Given the description of an element on the screen output the (x, y) to click on. 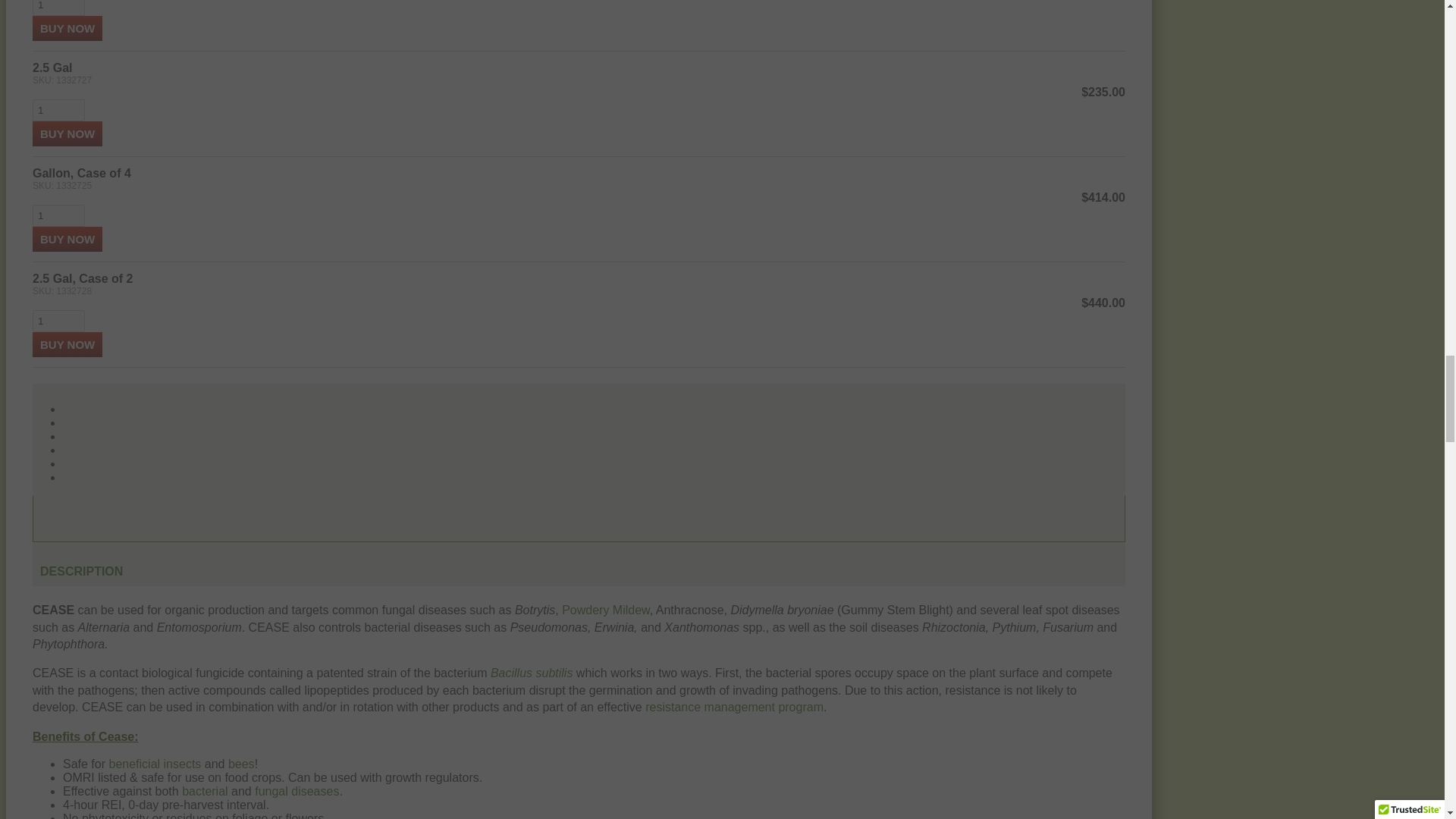
1 (58, 321)
1 (58, 110)
Buy Now (66, 27)
Buy Now (66, 344)
1 (58, 7)
Buy Now (66, 133)
1 (58, 215)
Buy Now (66, 238)
